Given the description of an element on the screen output the (x, y) to click on. 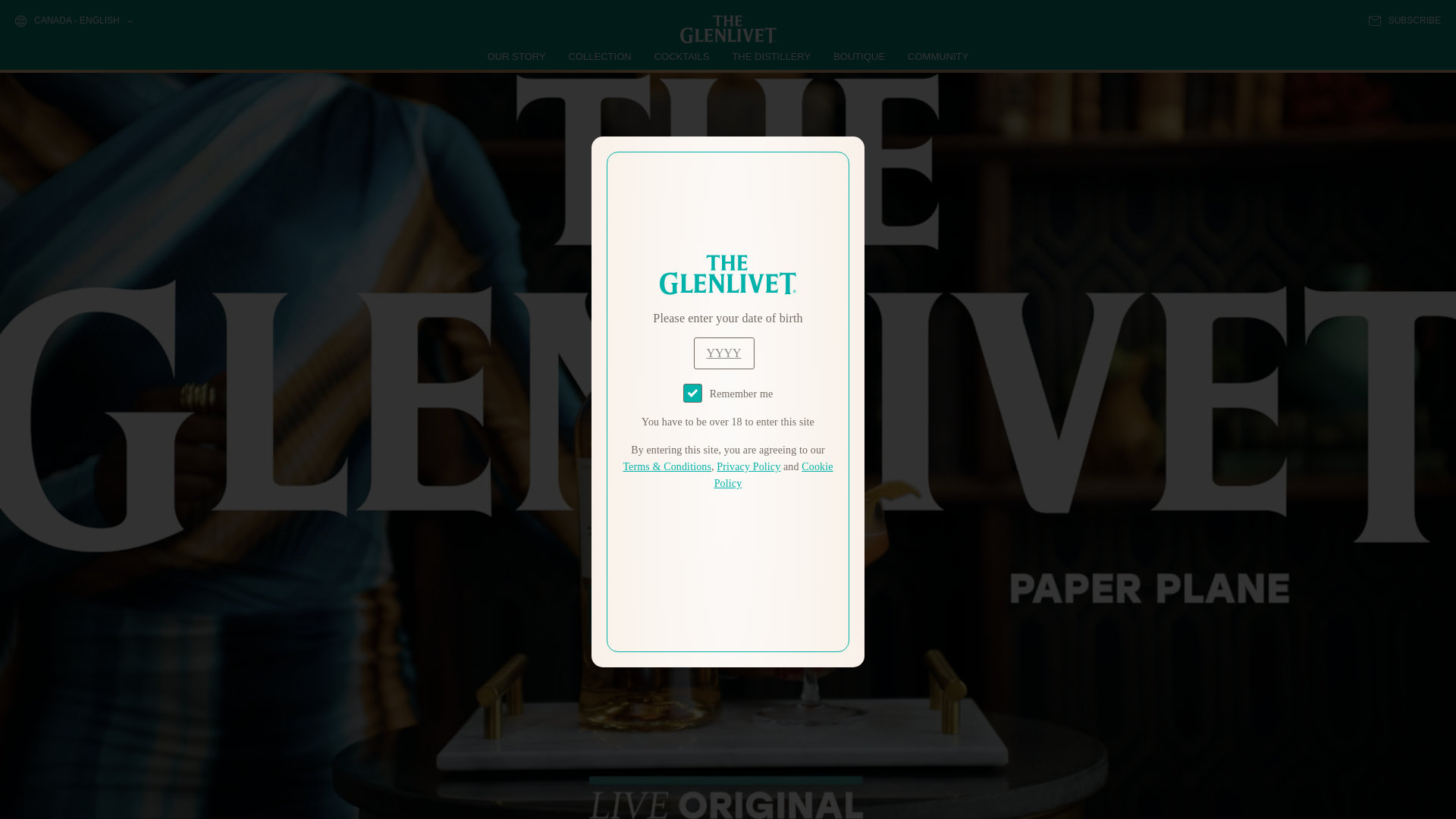
COMMUNITY (937, 56)
Privacy Policy (748, 466)
COCKTAILS (681, 56)
THE DISTILLERY (771, 56)
BOUTIQUE (858, 56)
OUR STORY (516, 56)
CANADA - ENGLISH (73, 21)
COLLECTION (600, 56)
Cookie Policy (773, 474)
SUBSCRIBE (1404, 20)
year (723, 353)
